Given the description of an element on the screen output the (x, y) to click on. 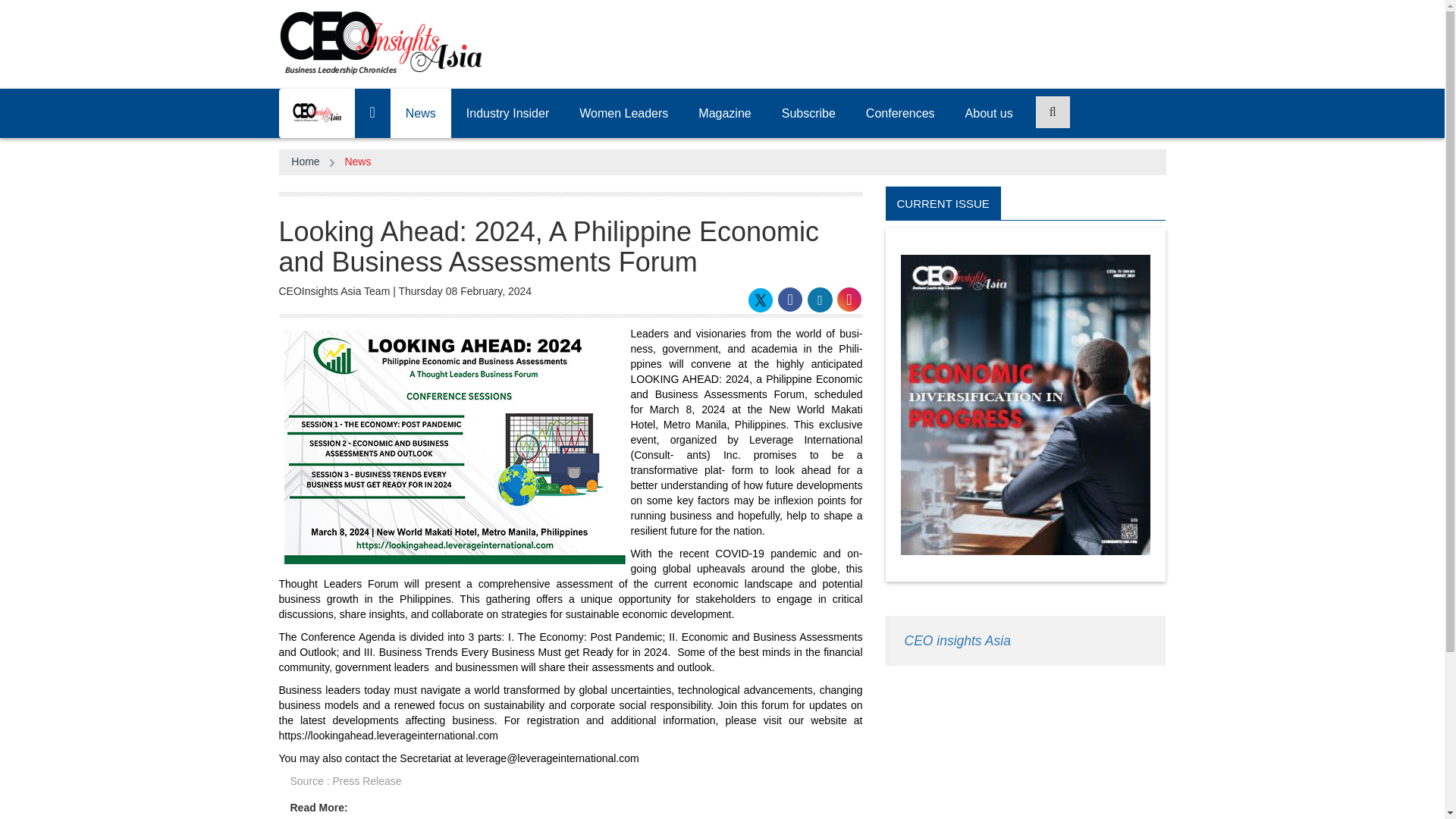
Conferences (900, 113)
News (420, 113)
3rd party ad content (890, 41)
About us (988, 113)
CEO insights Asia (957, 640)
News (357, 161)
Women Leaders (623, 113)
Magazine (723, 113)
Industry Insider (507, 113)
Advertisement (1025, 749)
Subscribe (808, 113)
CEO (315, 112)
Home (304, 161)
